Given the description of an element on the screen output the (x, y) to click on. 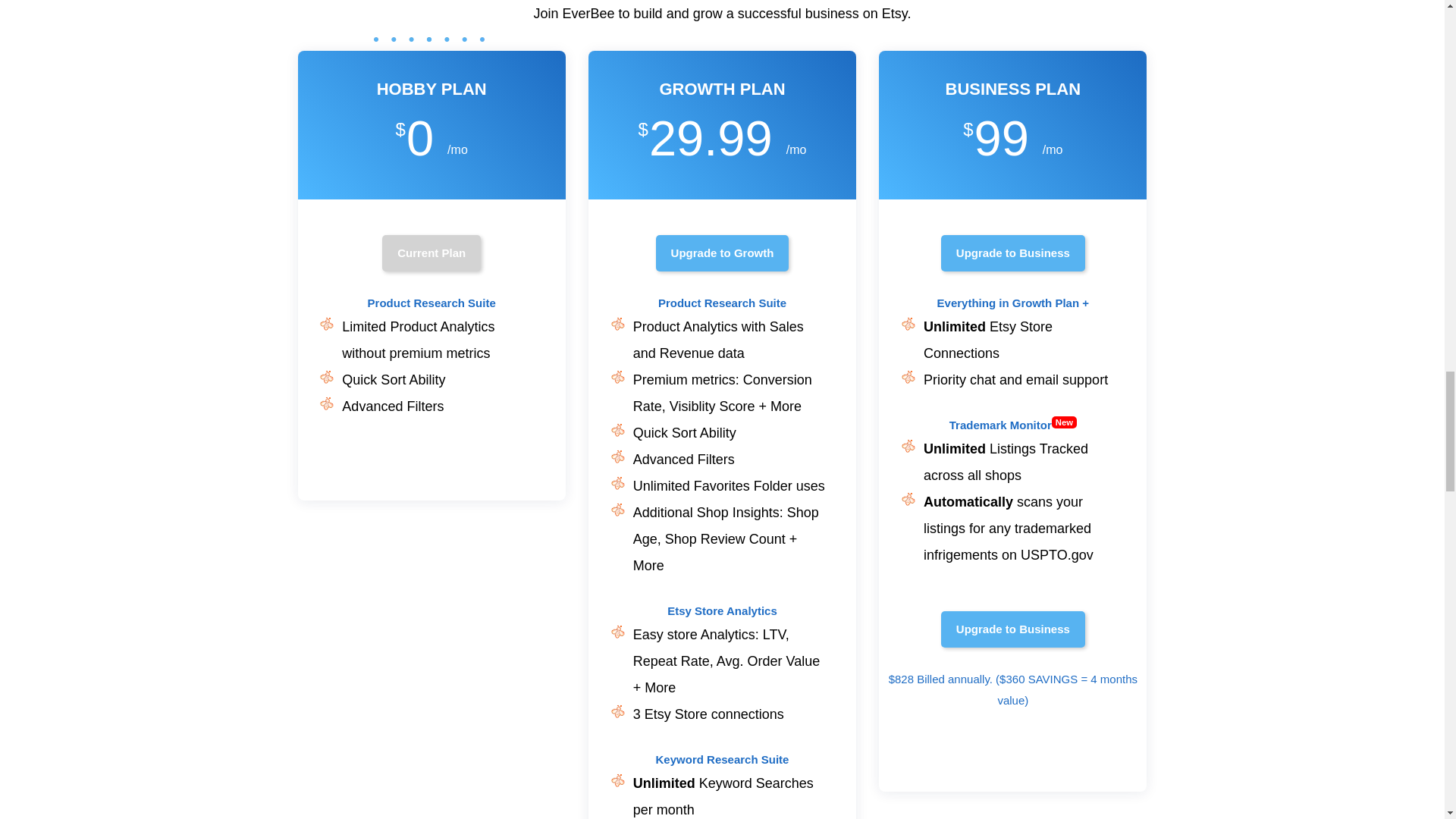
Current Plan (430, 253)
Upgrade to Growth (722, 253)
Upgrade to Business (1012, 253)
Upgrade to Business (1012, 628)
